Given the description of an element on the screen output the (x, y) to click on. 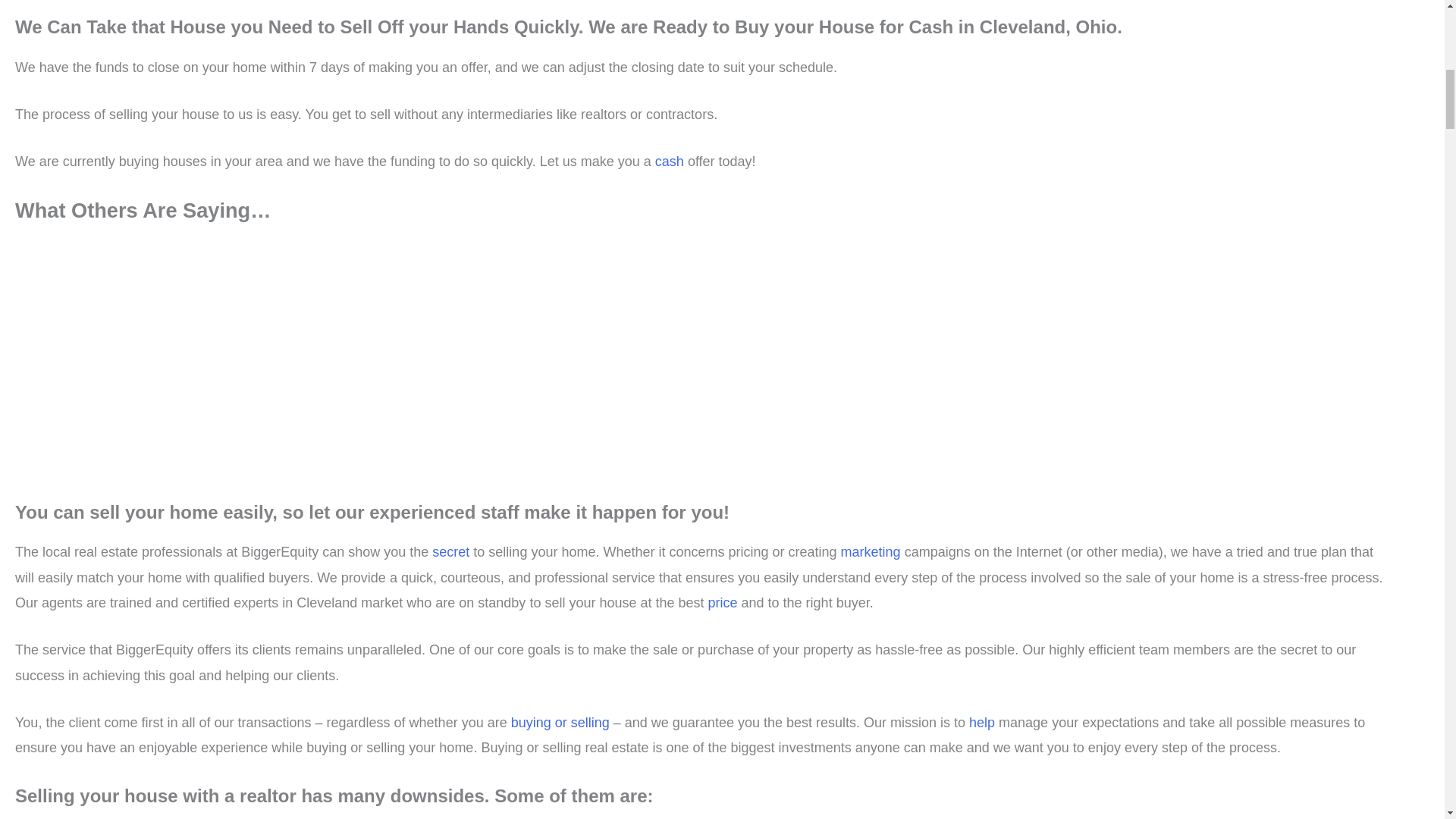
buying or selling (561, 722)
secret (452, 551)
price (724, 602)
cash (671, 160)
help (983, 722)
marketing (870, 551)
